Given the description of an element on the screen output the (x, y) to click on. 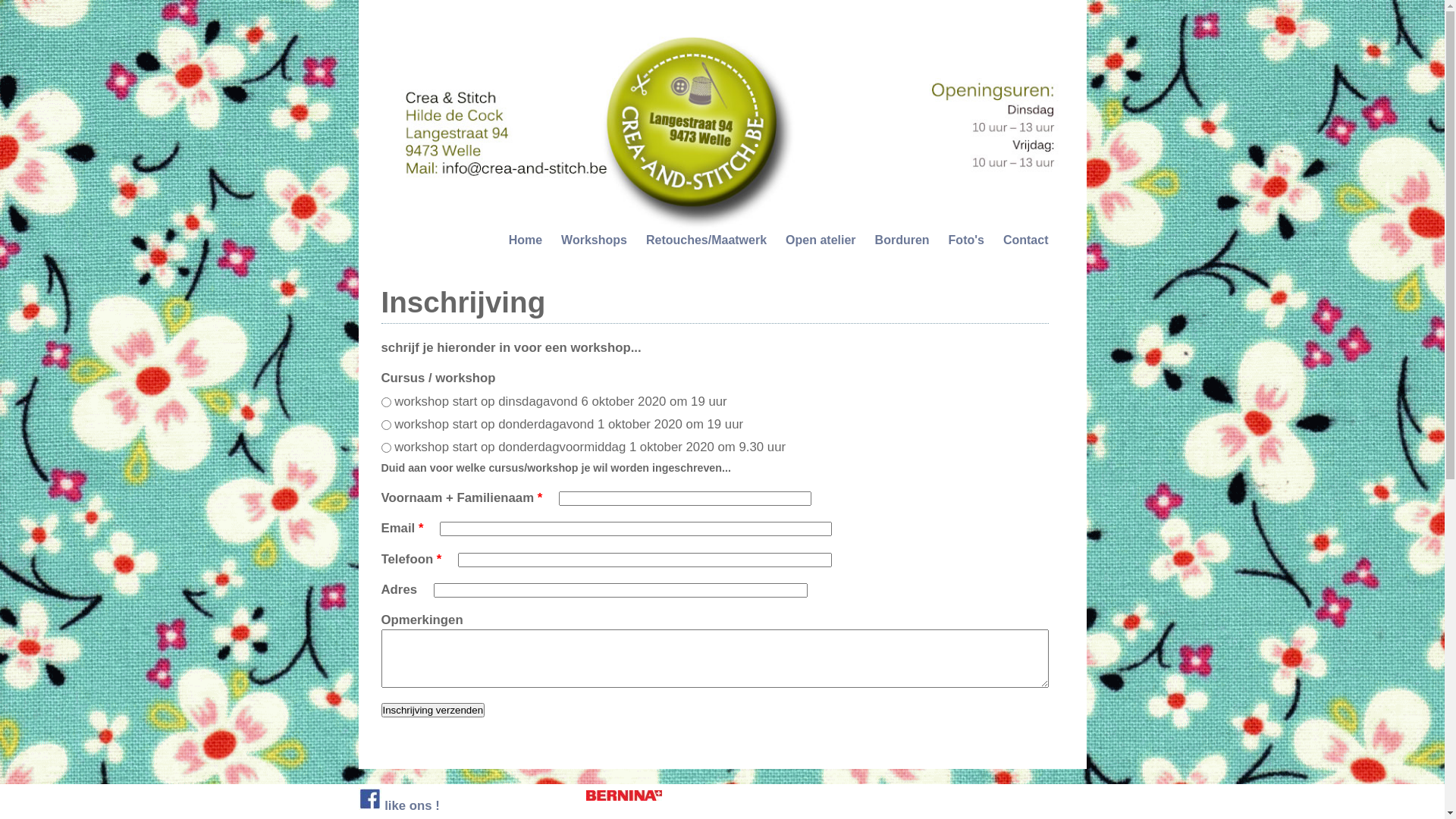
Contact Element type: text (1025, 240)
Open atelier Element type: text (820, 240)
Overslaan en naar de inhoud gaan Element type: text (791, 0)
Borduren Element type: text (902, 240)
Foto's Element type: text (966, 240)
Home Element type: hover (729, 232)
Inschrijving verzenden Element type: text (432, 709)
Home Element type: text (525, 240)
Retouches/Maatwerk Element type: text (706, 240)
Workshops Element type: text (593, 240)
